Given the description of an element on the screen output the (x, y) to click on. 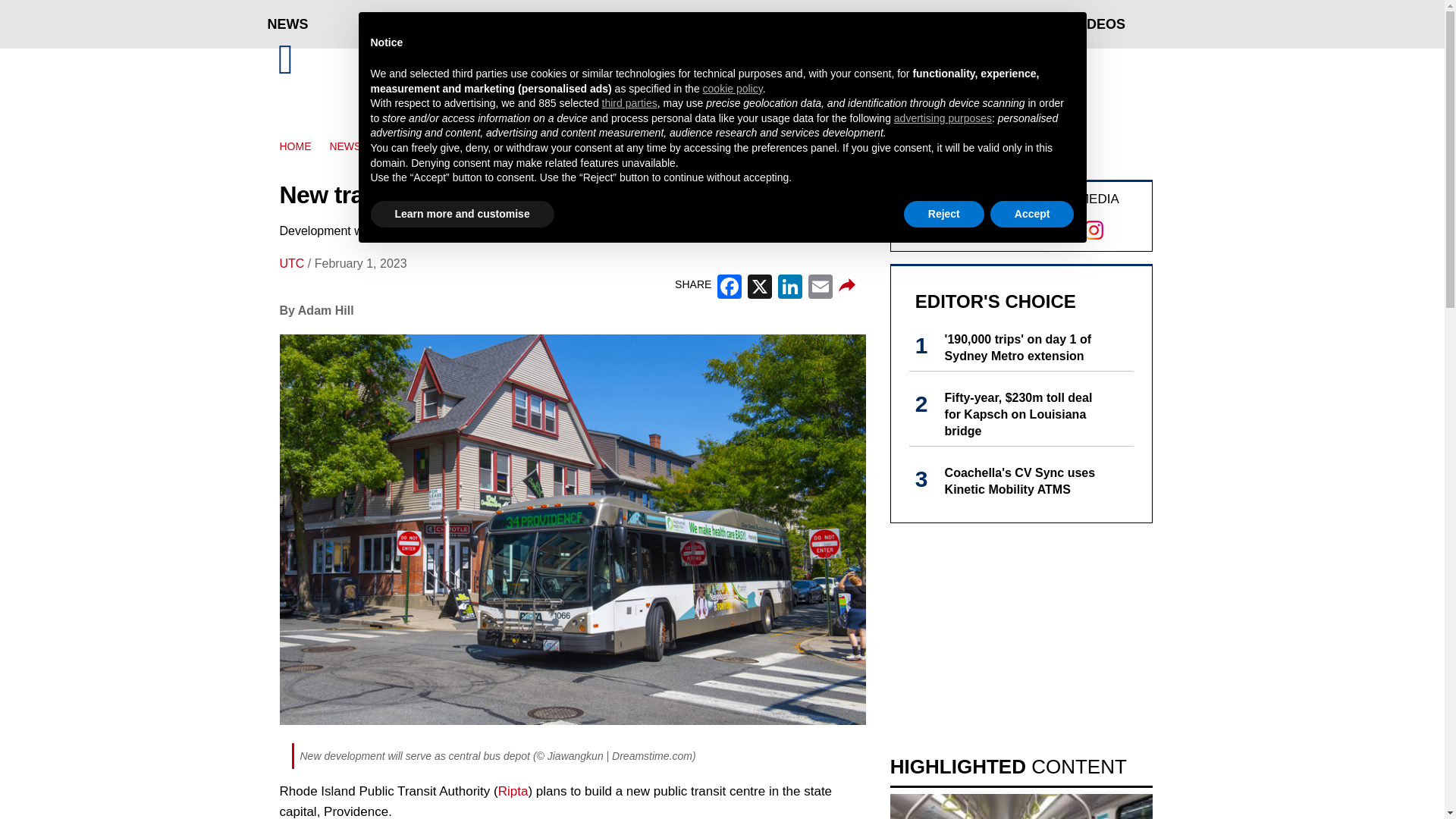
search SEARCH (1129, 15)
MAGAZINE (985, 24)
Home (722, 59)
3rd party ad content (721, 61)
PRODUCTS (397, 24)
3rd party ad content (1021, 633)
info ABOUT US (309, 15)
FEATURES (523, 24)
VIDEOS (1099, 24)
